Given the description of an element on the screen output the (x, y) to click on. 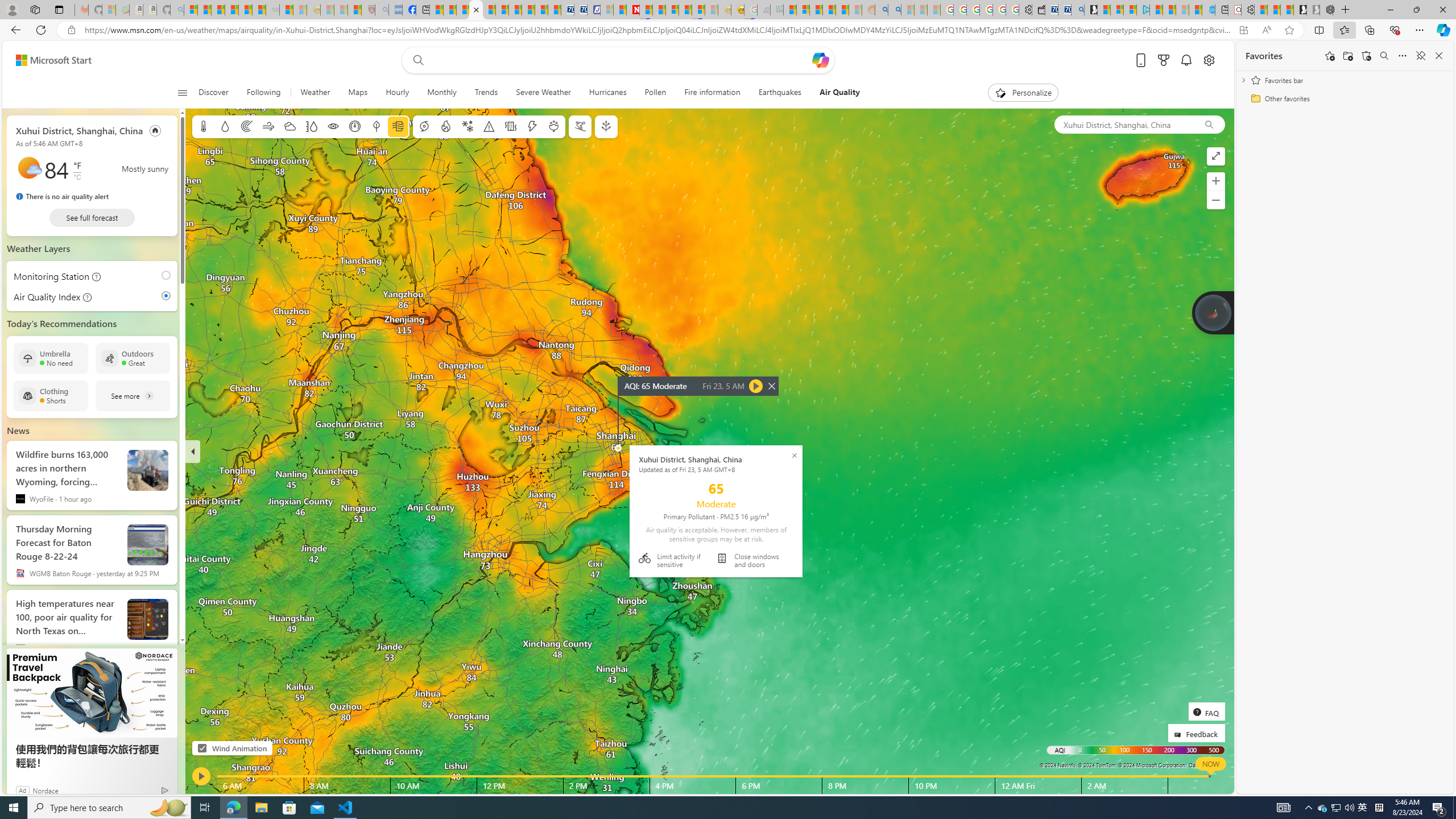
Open navigation menu (182, 92)
Air Quality Index (167, 296)
Following (264, 92)
Restore deleted favorites (1366, 55)
Earthquakes (779, 92)
Wallet (1037, 9)
Notifications (1186, 60)
Microsoft-Report a Concern to Bing - Sleeping (108, 9)
Humidity (311, 126)
Open Copilot (819, 59)
See full forecast (92, 217)
